Given the description of an element on the screen output the (x, y) to click on. 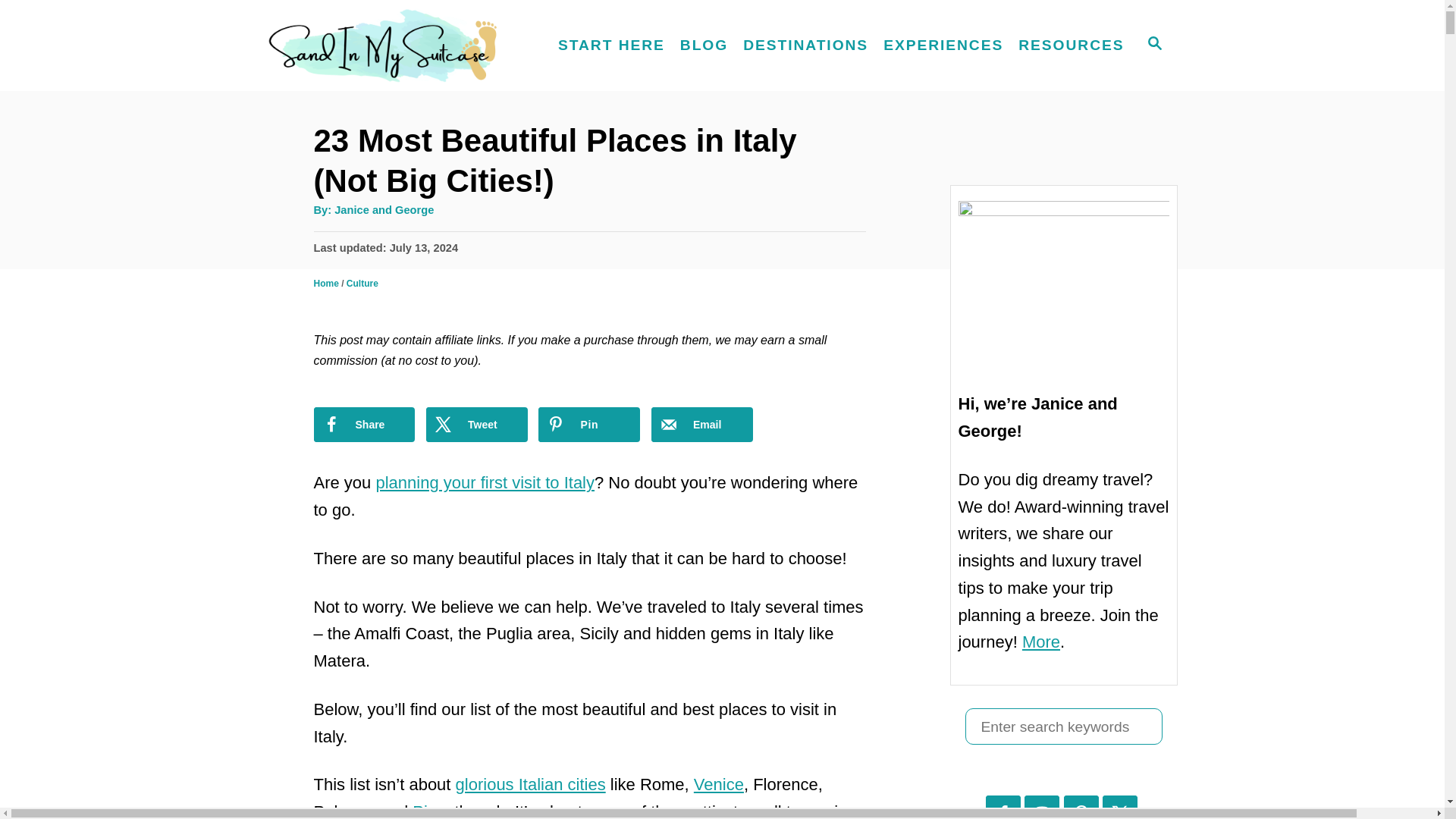
RESOURCES (1070, 45)
Share on X (476, 424)
Save to Pinterest (589, 424)
START HERE (611, 45)
Send over email (701, 424)
EXPERIENCES (943, 45)
DESTINATIONS (805, 45)
SEARCH (1153, 45)
BLOG (703, 45)
Sand In My Suitcase (394, 45)
